Given the description of an element on the screen output the (x, y) to click on. 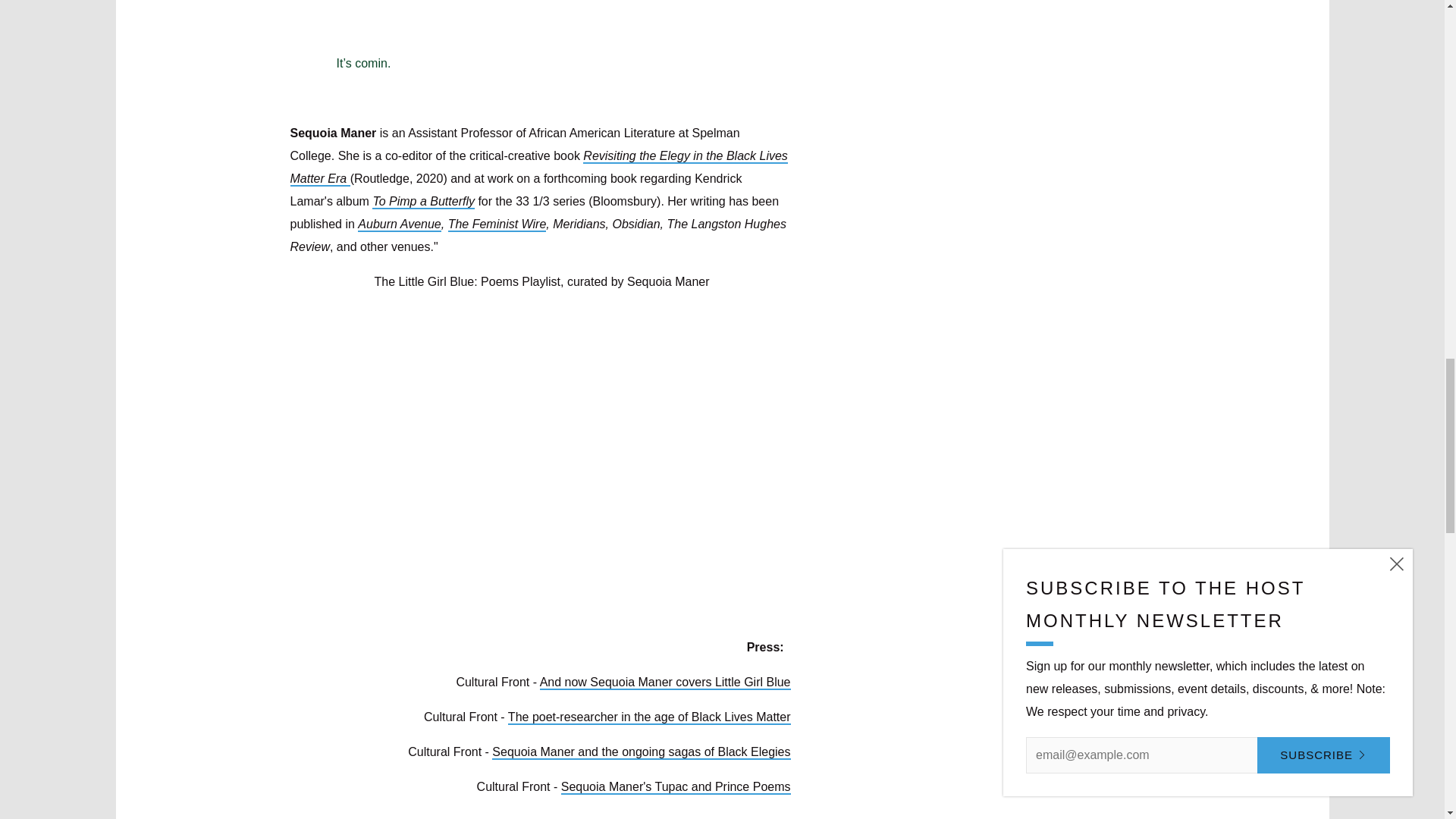
Sequoia Maner's Tupac and Prince Poems (675, 787)
Read Sanctuary by Sequoia Maner (497, 224)
Read The Loophole for Retreat by Sequoia Maner (399, 224)
Buy To Pimp a Butterfly (423, 201)
And Now Sequoia Maner Covers Little Girl Blue (665, 682)
Buy Revisiting the Elegy (538, 167)
The Poet-Researcher in the age of Black Lives Matter (649, 717)
Sequoia Maner and the ongoing sagas of Black Elegies (641, 752)
